Given the description of an element on the screen output the (x, y) to click on. 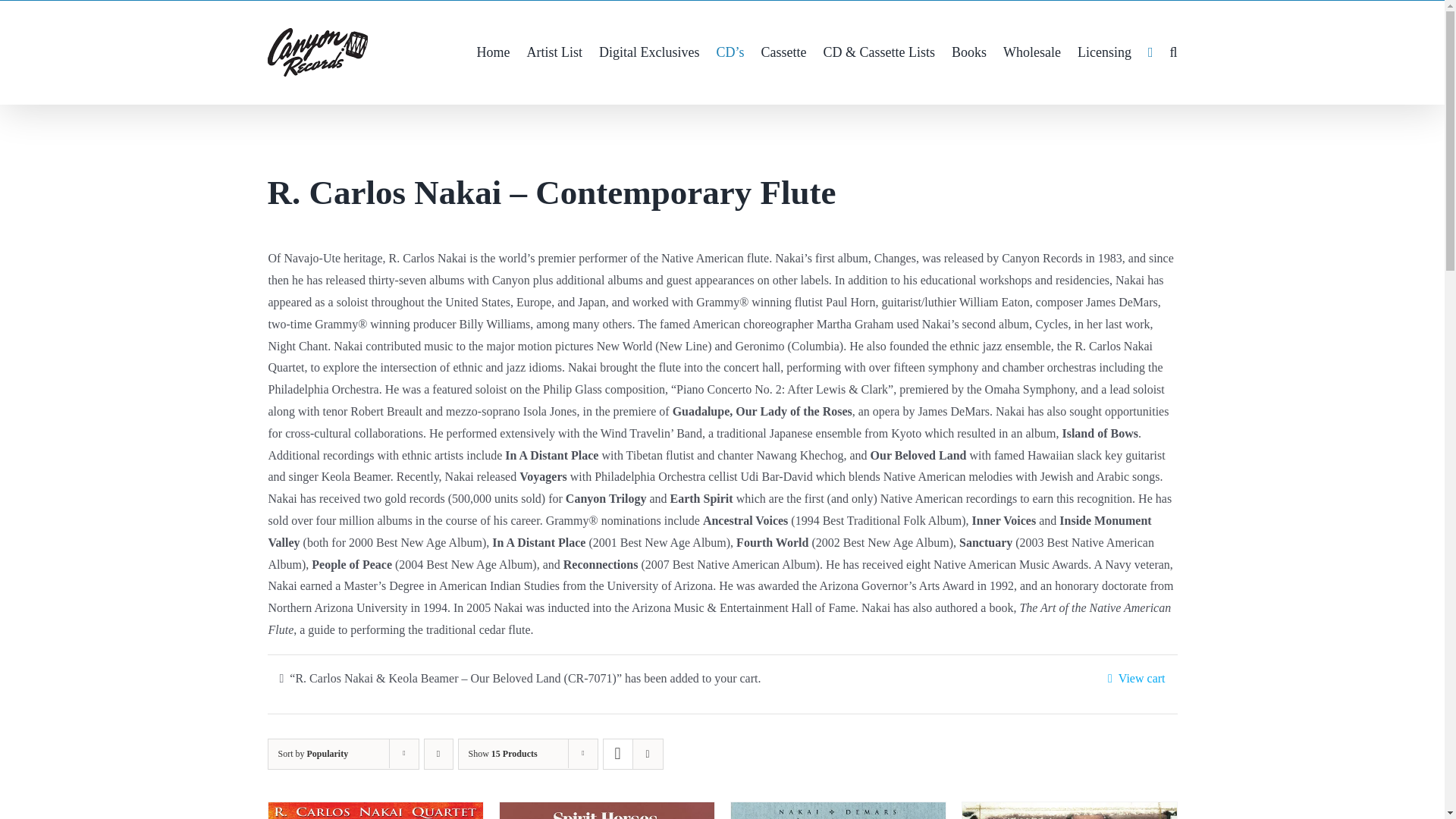
Digital Exclusives (648, 52)
